Given the description of an element on the screen output the (x, y) to click on. 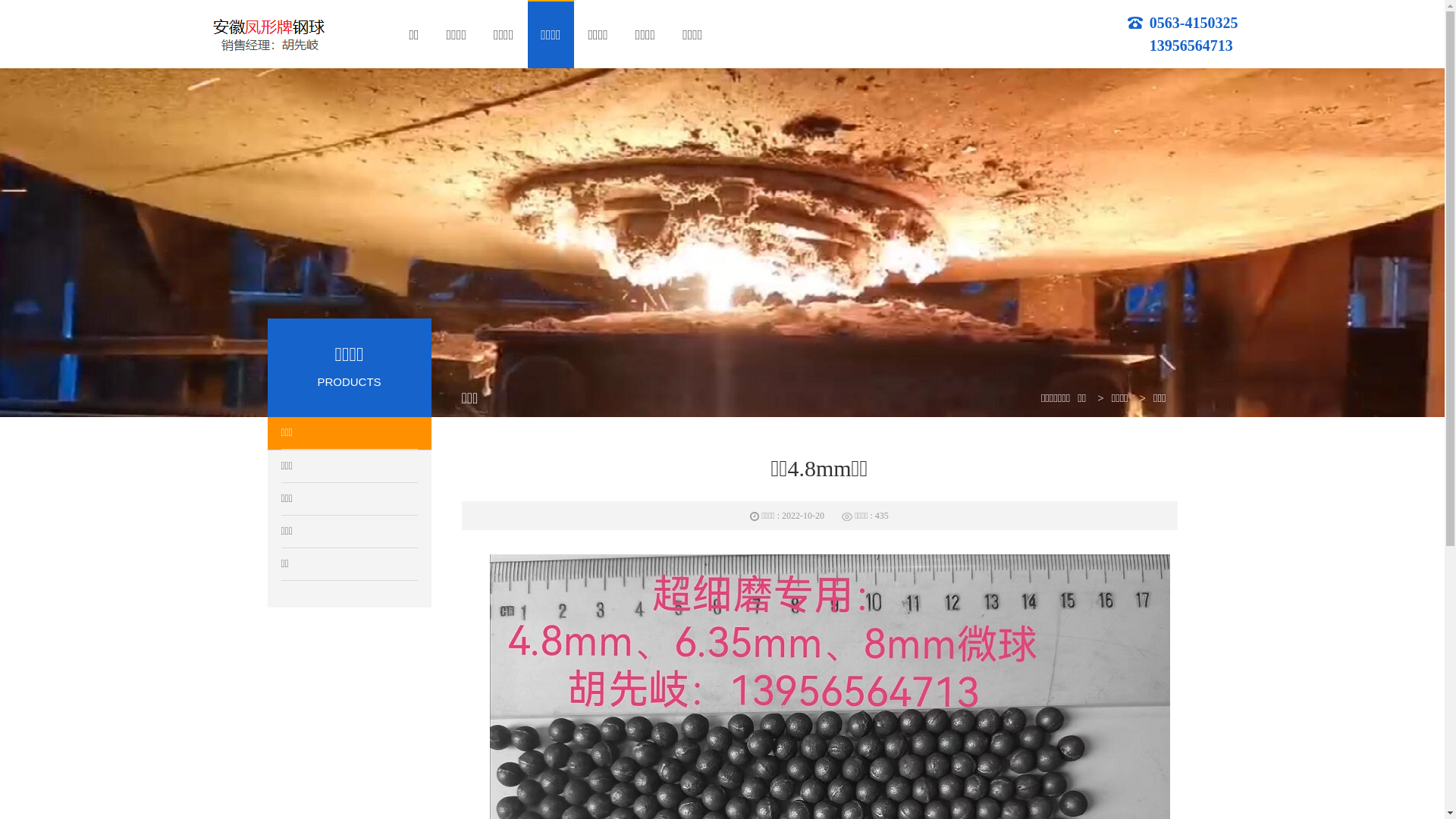
logo Element type: hover (267, 33)
